Given the description of an element on the screen output the (x, y) to click on. 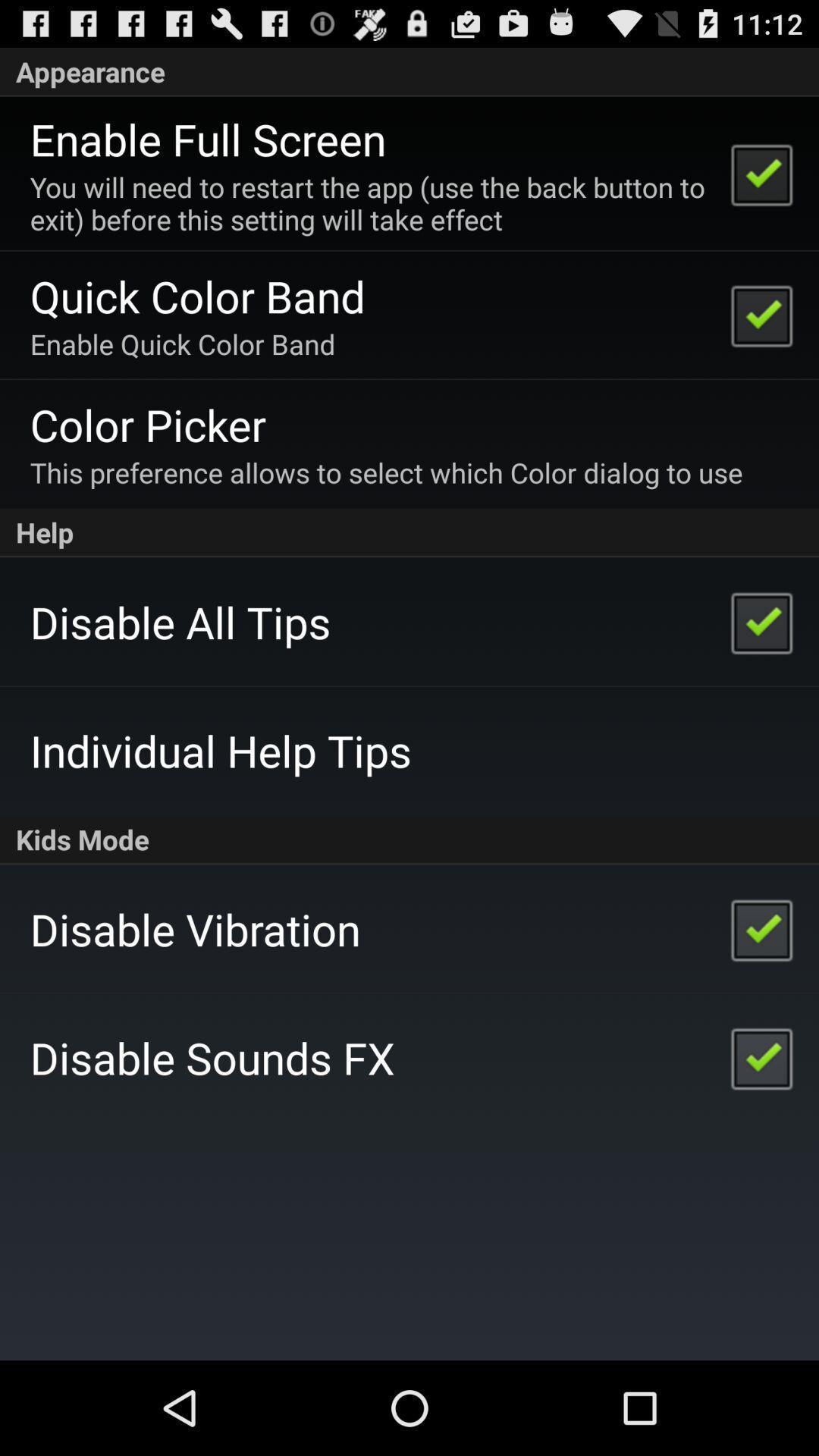
turn off app below disable vibration icon (212, 1057)
